Given the description of an element on the screen output the (x, y) to click on. 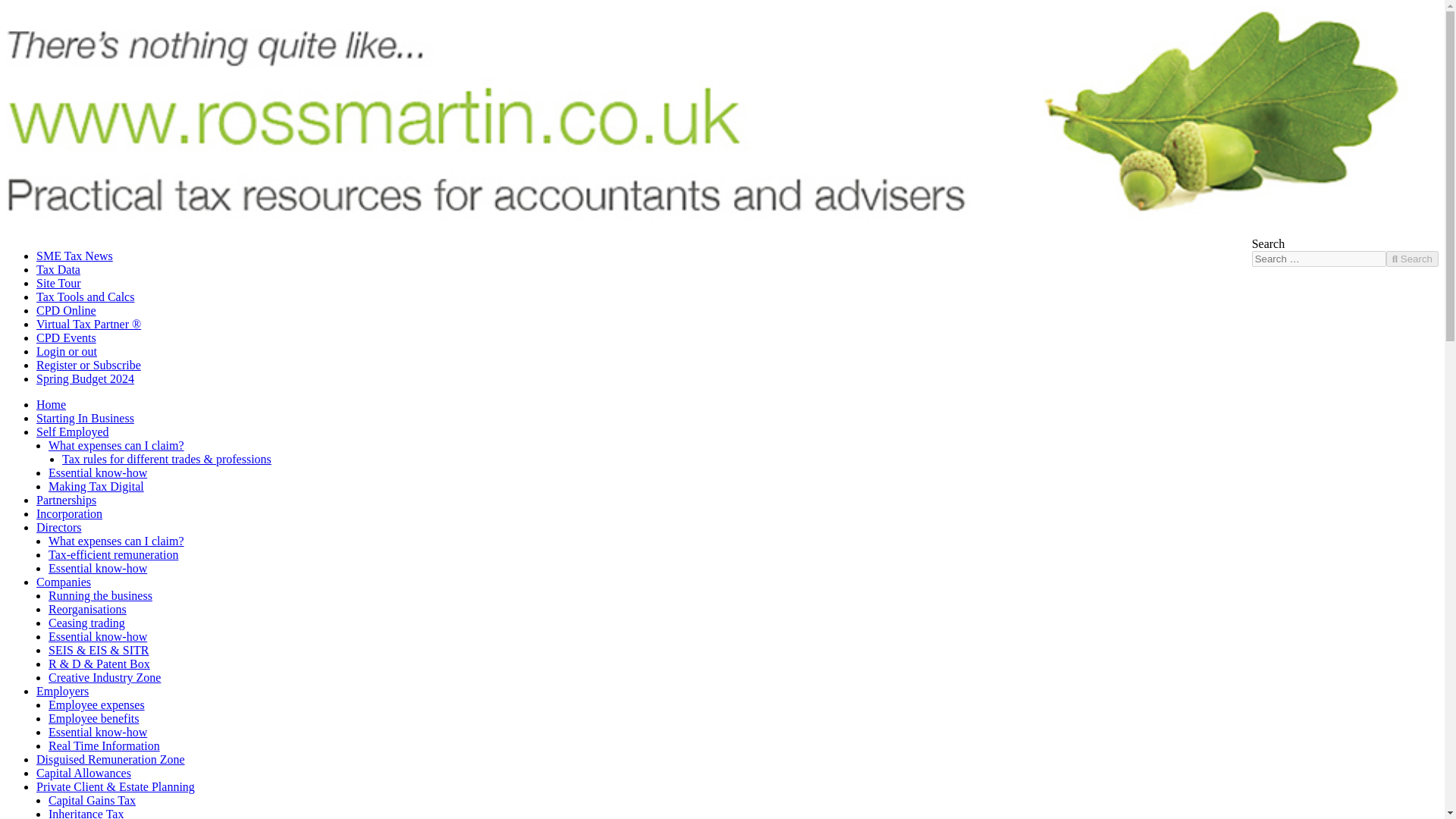
Tax Data (644, 269)
